Given the description of an element on the screen output the (x, y) to click on. 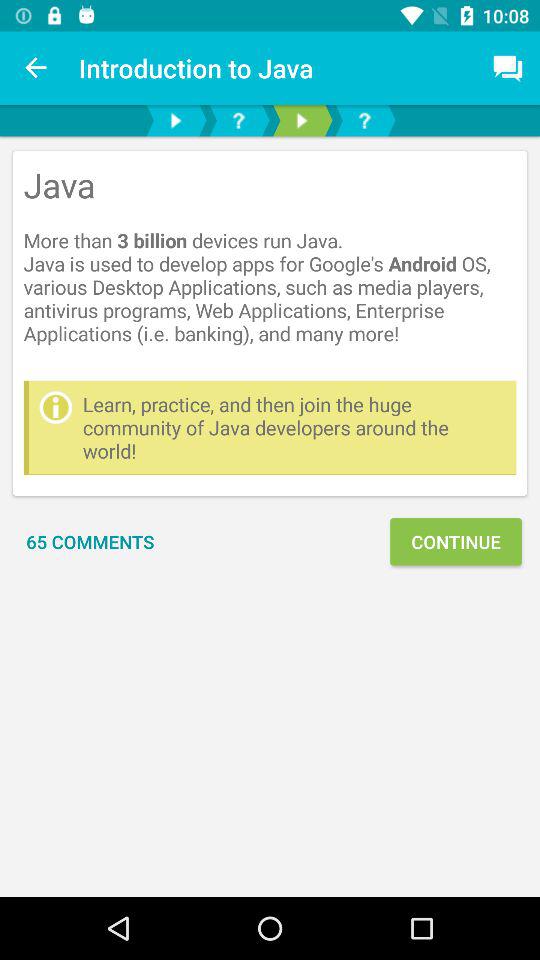
click item above continue icon (293, 427)
